Given the description of an element on the screen output the (x, y) to click on. 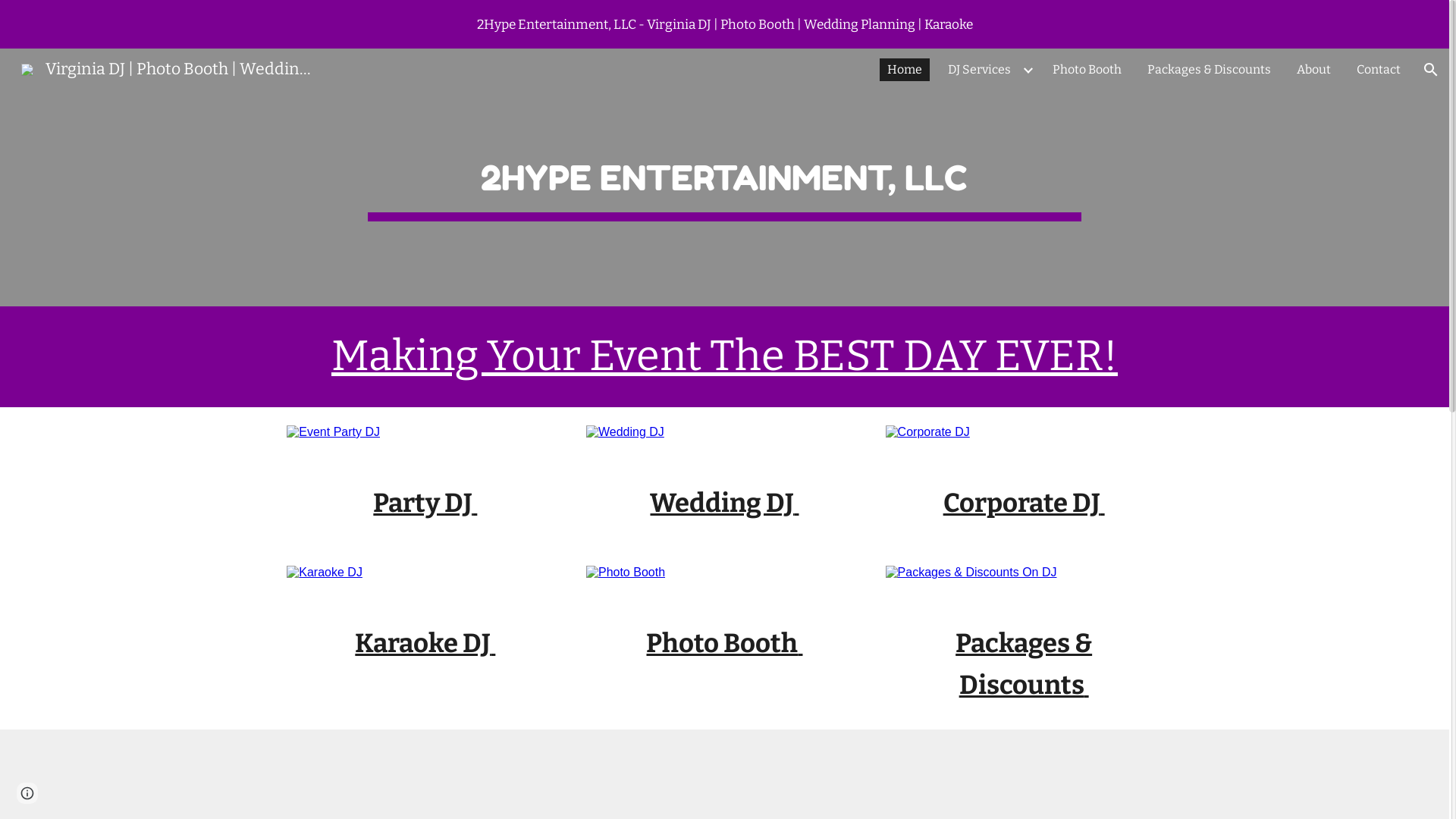
Party DJ Element type: text (422, 501)
Packages & Discounts Element type: text (1023, 662)
Corporate DJ Element type: text (1021, 501)
Photo Booth Element type: text (1086, 69)
Packages & Discounts Element type: text (1208, 69)
About Element type: text (1313, 69)
Contact Element type: text (1378, 69)
Virginia DJ | Photo Booth | Wedding Planning | Karaoke Element type: text (168, 68)
Expand/Collapse Element type: hover (1027, 69)
Wedding DJ Element type: text (721, 501)
Karaoke DJ Element type: text (422, 641)
DJ Services Element type: text (979, 69)
Photo Booth Element type: text (721, 641)
Home Element type: text (904, 69)
